Given the description of an element on the screen output the (x, y) to click on. 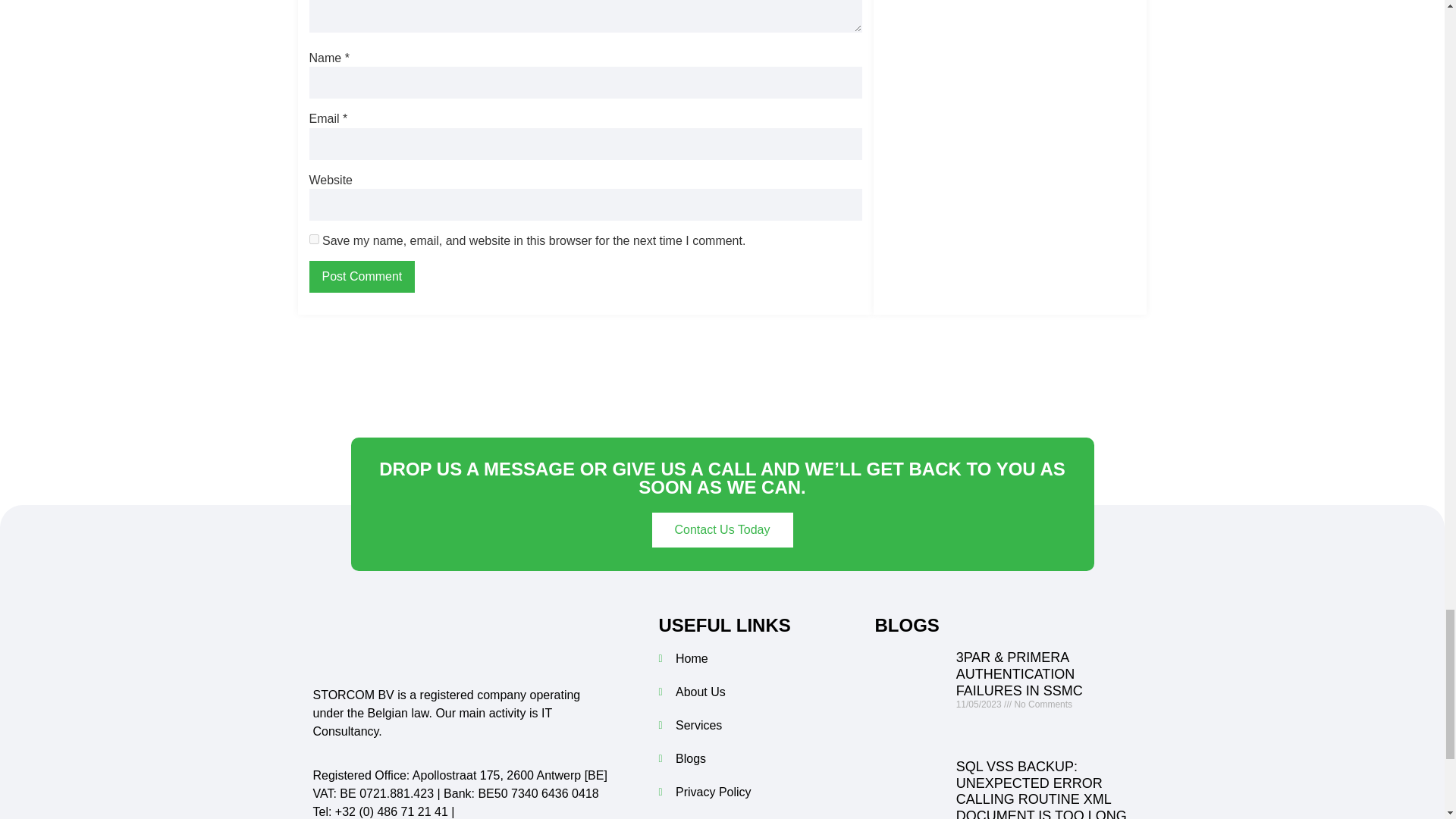
yes (313, 239)
Post Comment (361, 276)
Post Comment (361, 276)
